Given the description of an element on the screen output the (x, y) to click on. 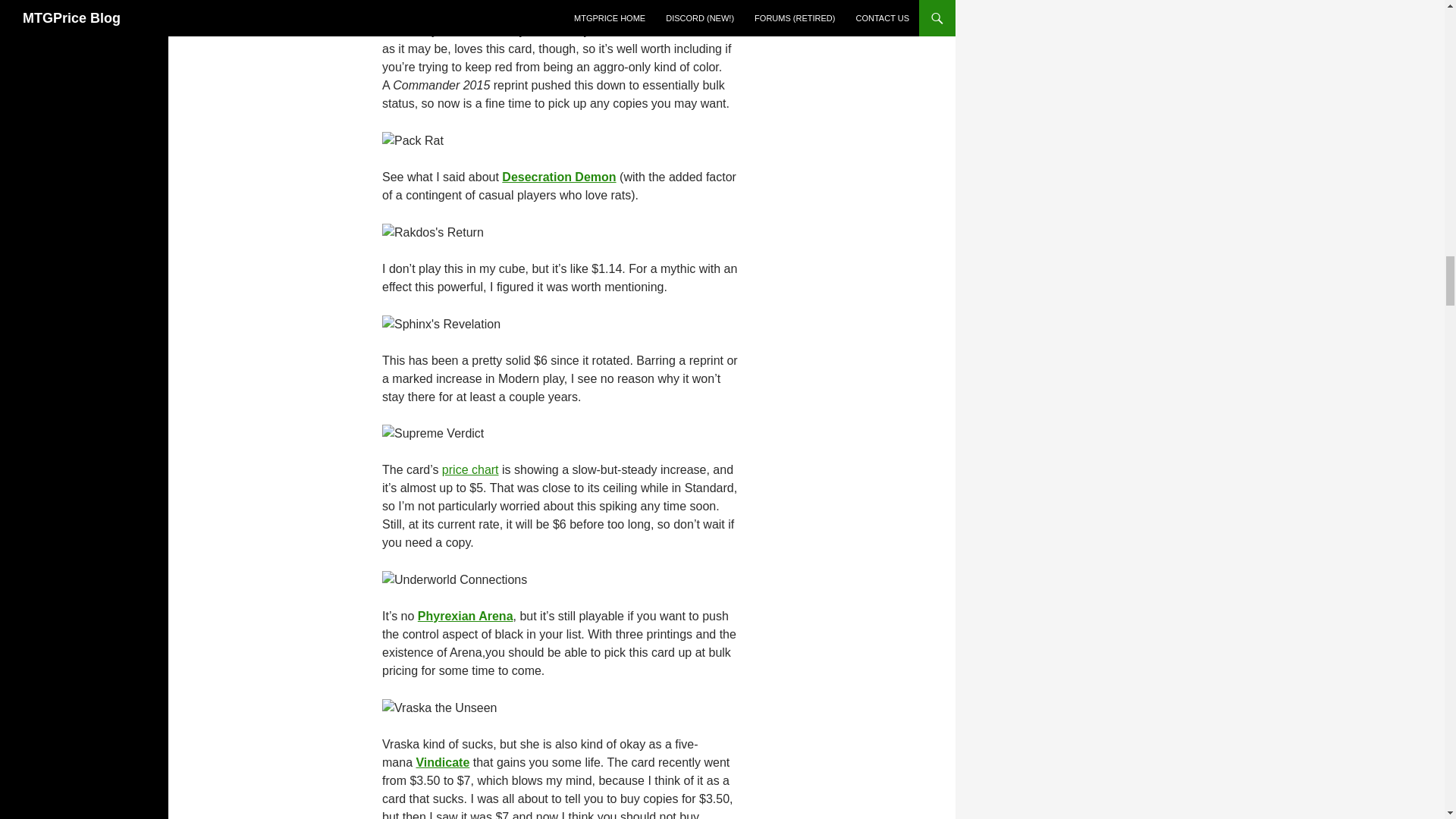
Vindicate (441, 762)
price chart (470, 469)
Phyrexian Arena (465, 615)
Desecration Demon (558, 176)
